Given the description of an element on the screen output the (x, y) to click on. 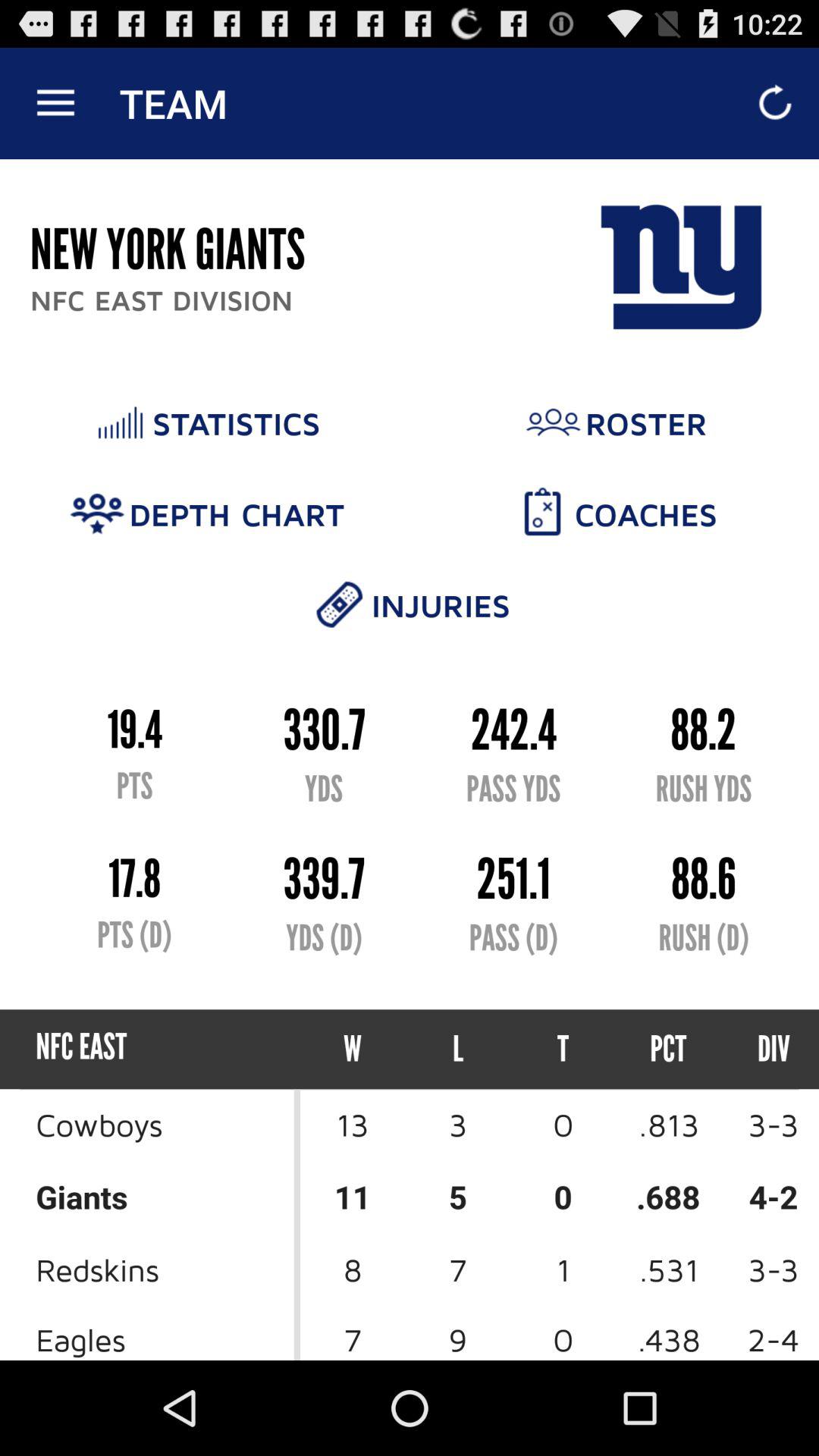
open the icon next to pct (562, 1049)
